Given the description of an element on the screen output the (x, y) to click on. 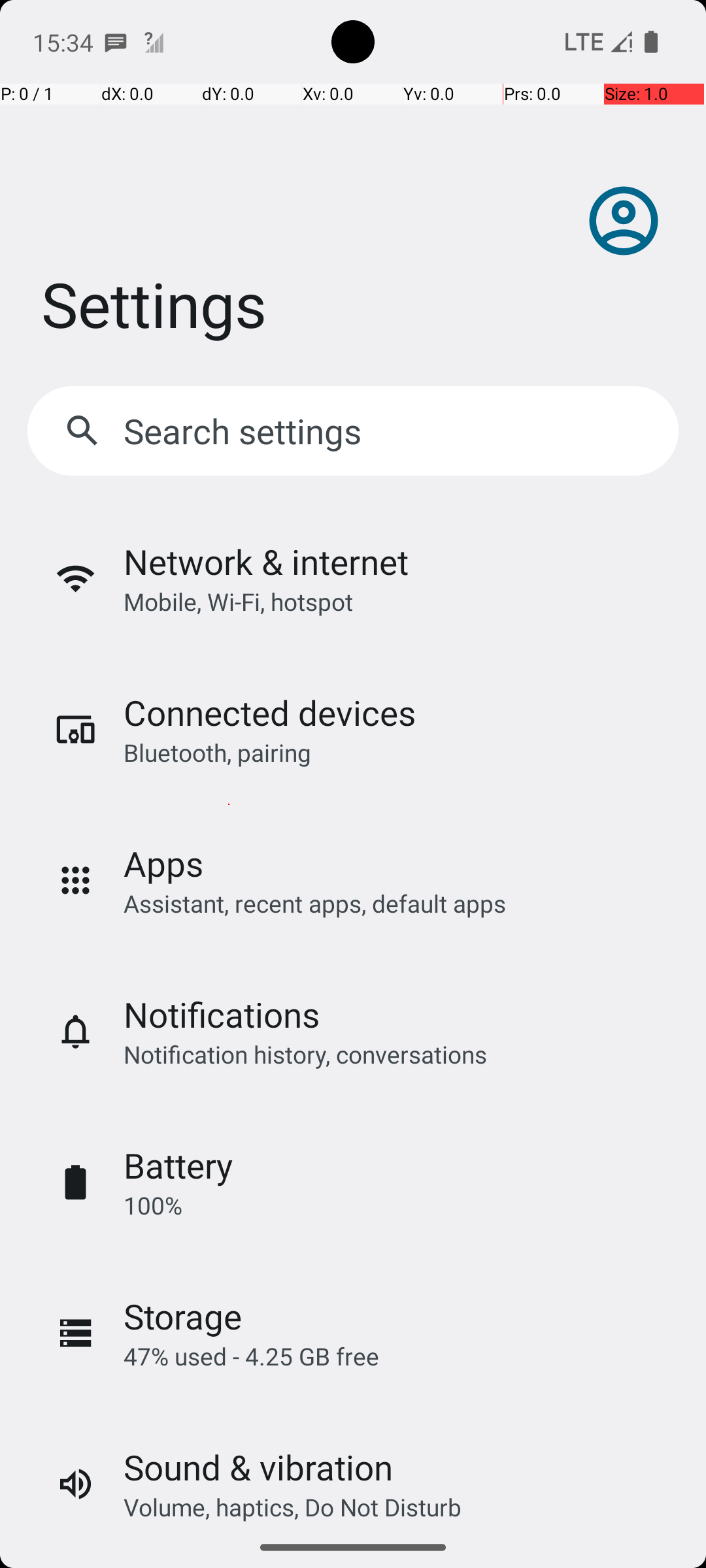
47% used - 4.25 GB free Element type: android.widget.TextView (251, 1355)
